Given the description of an element on the screen output the (x, y) to click on. 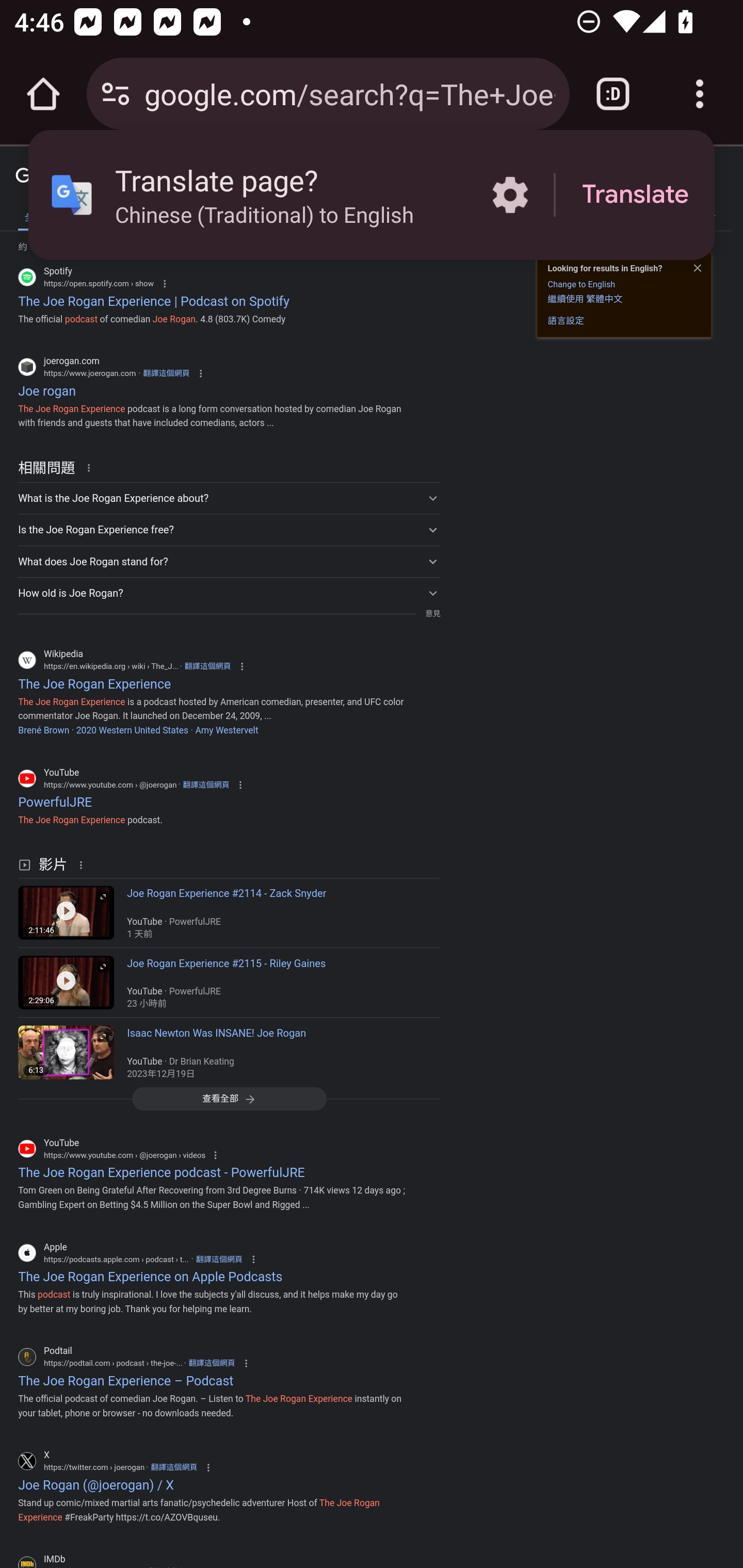
Open the home page (43, 93)
Connection is secure (115, 93)
Switch or close tabs (612, 93)
Customize and control Google Chrome (699, 93)
Translate (634, 195)
More options in the Translate page? (509, 195)
